Given the description of an element on the screen output the (x, y) to click on. 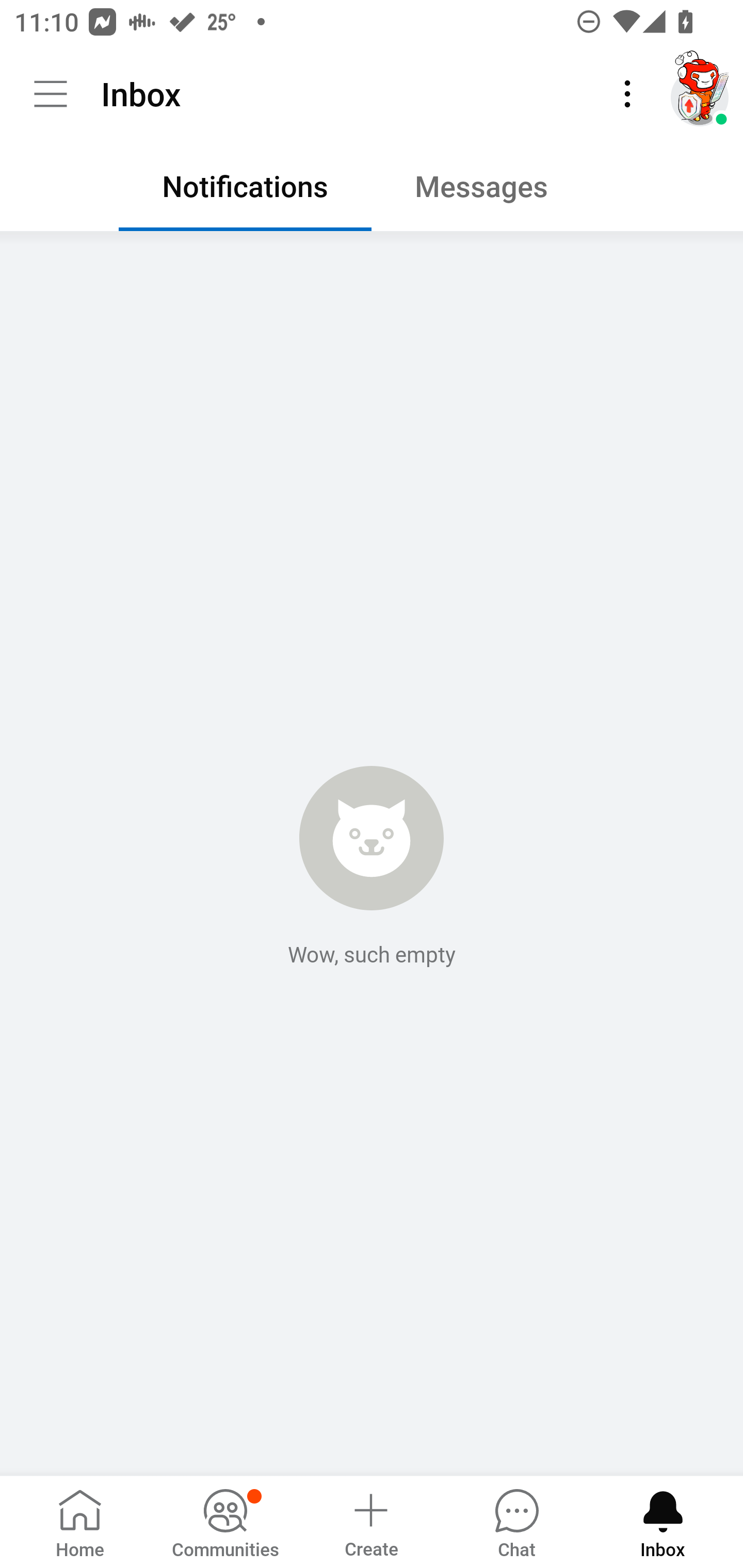
Community menu (50, 93)
More (626, 93)
TestAppium002 account (699, 93)
Messages (497, 191)
Home (80, 1520)
Communities, has notifications Communities (225, 1520)
Create a post Create (370, 1520)
Chat (516, 1520)
Inbox (662, 1520)
